Given the description of an element on the screen output the (x, y) to click on. 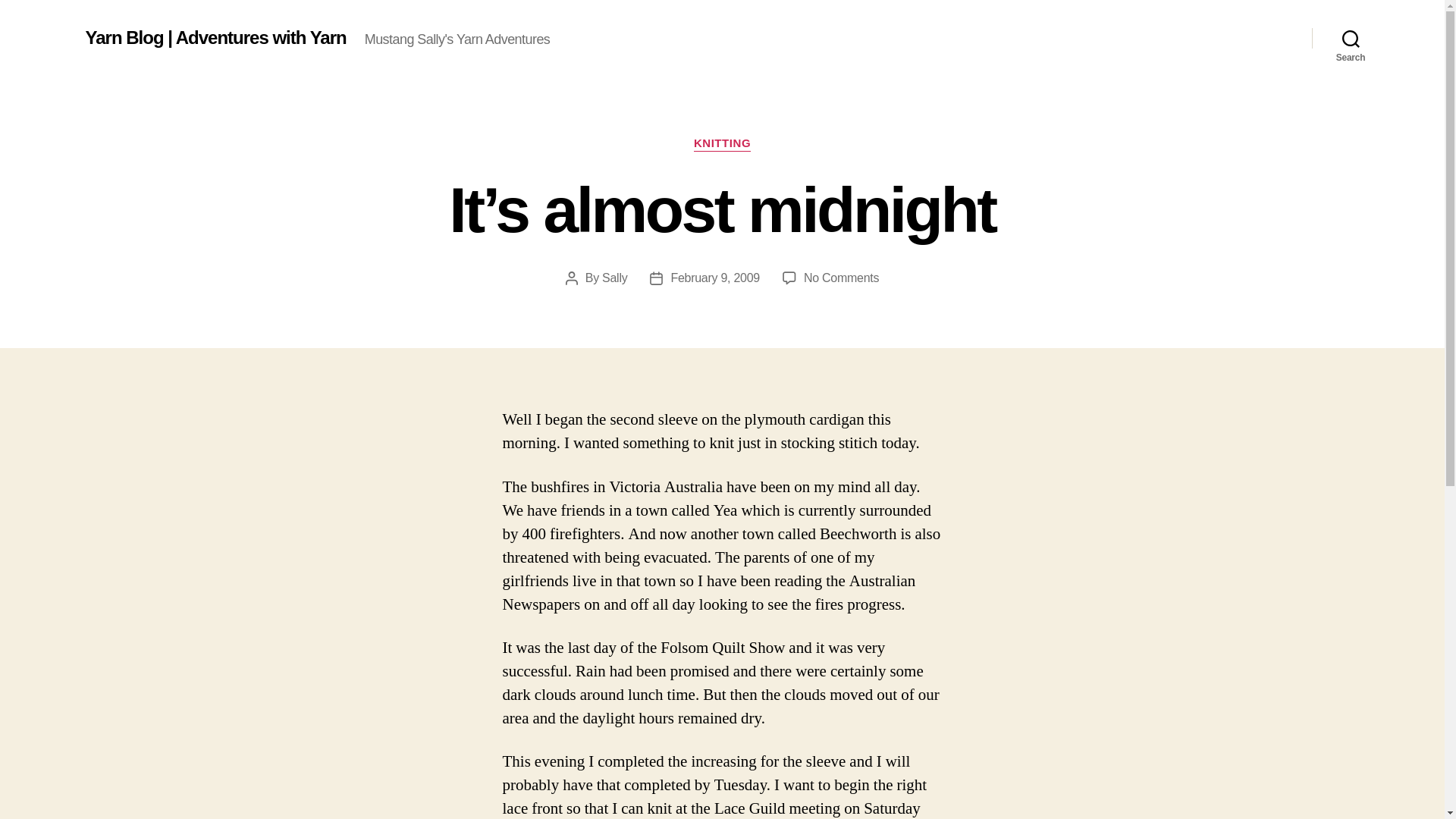
Sally (614, 277)
Search (1350, 37)
KNITTING (722, 143)
February 9, 2009 (714, 277)
